Given the description of an element on the screen output the (x, y) to click on. 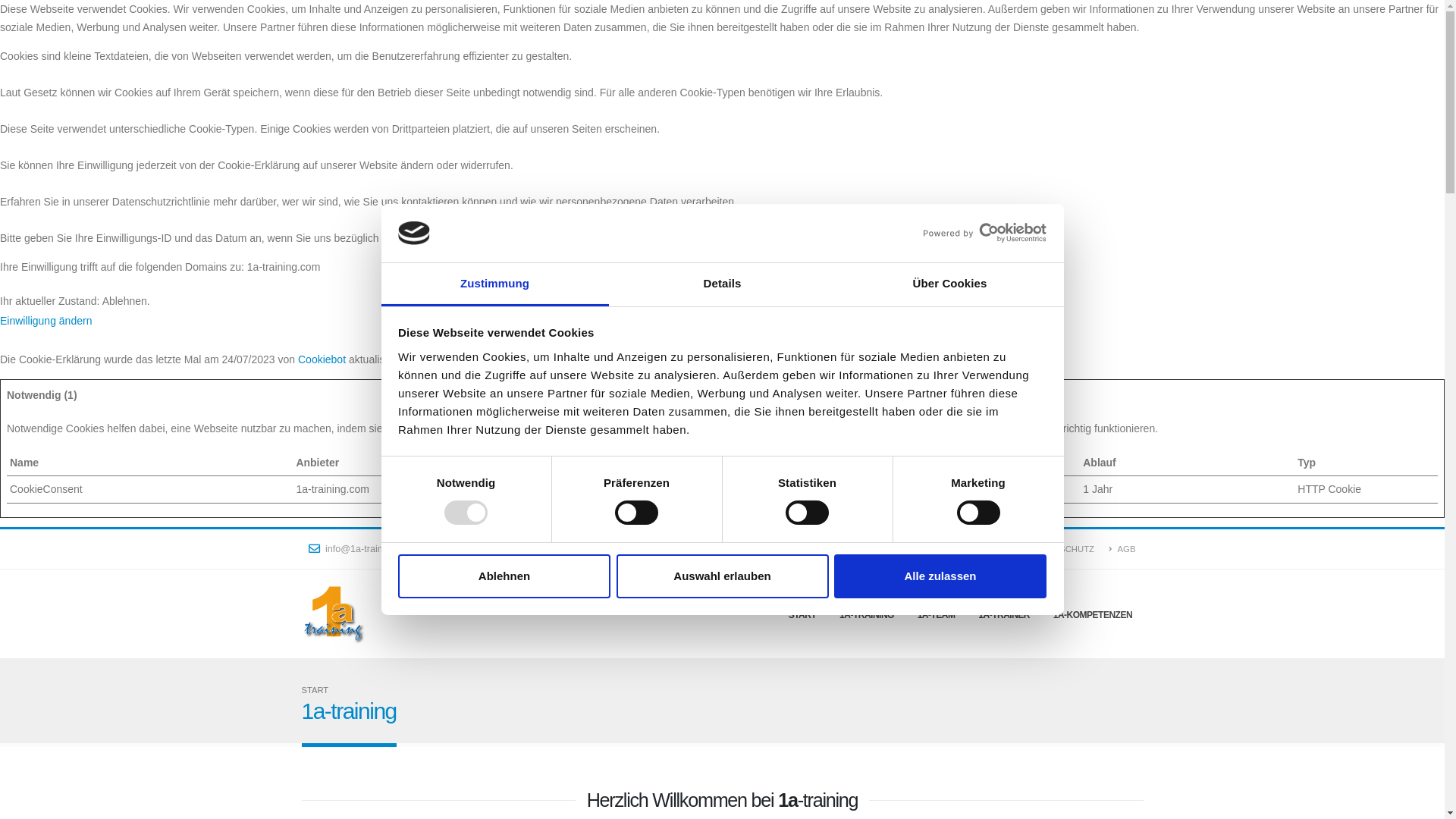
DATENSCHUTZ Element type: text (1057, 548)
AGB Element type: text (1121, 548)
1A-TRAINING Element type: text (866, 614)
Cookiebot Element type: text (321, 359)
Alle zulassen Element type: text (940, 576)
Ablehnen Element type: text (504, 576)
IMPRESSUM Element type: text (981, 548)
1A-KOMPETENZEN Element type: text (1091, 614)
info@1a-training.com Element type: text (362, 548)
07151-27860-23 Element type: text (473, 548)
1A-TEAM Element type: text (936, 614)
START Element type: text (801, 614)
Details Element type: text (721, 284)
Auswahl erlauben Element type: text (721, 576)
Zustimmung Element type: text (494, 284)
1A-TRAINER Element type: text (1003, 614)
